Given the description of an element on the screen output the (x, y) to click on. 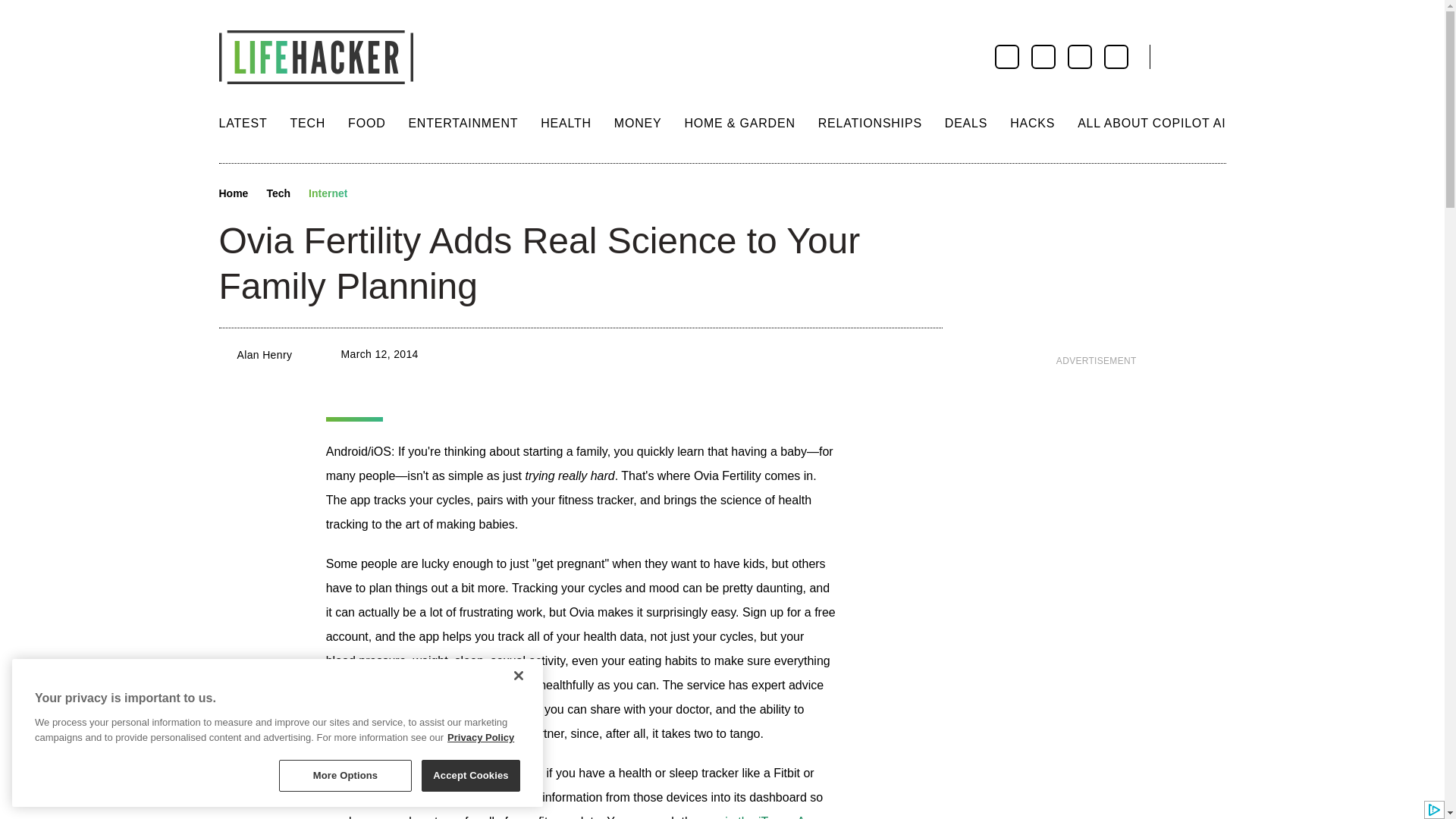
HEALTH (565, 123)
FOOD (366, 123)
RELATIONSHIPS (869, 123)
Social Share (373, 193)
HACKS (1032, 123)
ALL ABOUT COPILOT AI (1151, 123)
LATEST (242, 123)
ENTERTAINMENT (462, 123)
Tech (277, 193)
DEALS (965, 123)
Internet (327, 193)
MONEY (638, 123)
Home (232, 193)
TECH (306, 123)
